Given the description of an element on the screen output the (x, y) to click on. 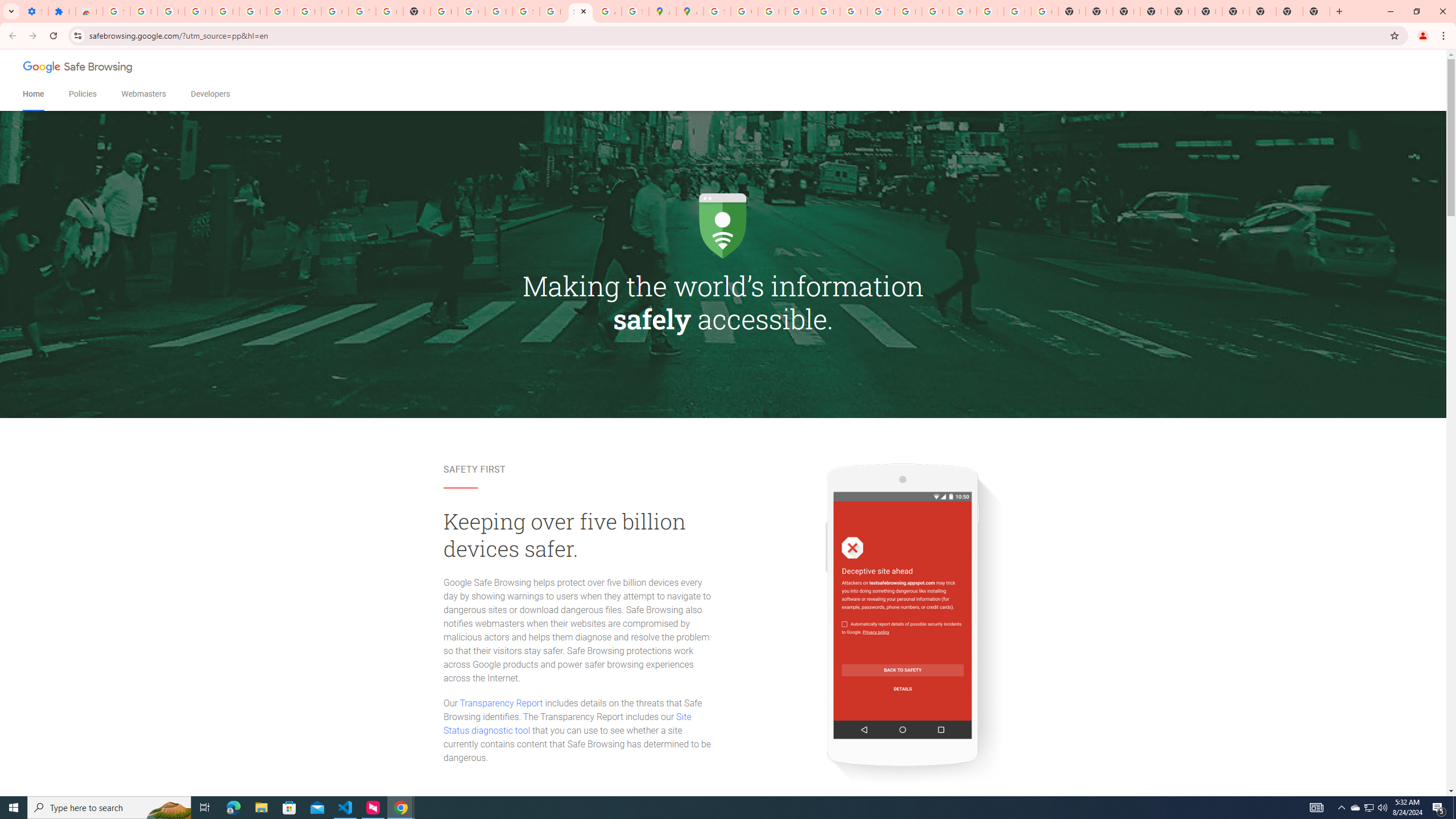
Privacy Help Center - Policies Help (799, 11)
Settings - On startup (34, 11)
Google Safe Browsing (78, 68)
New Tab (1316, 11)
Webmasters (142, 94)
